Given the description of an element on the screen output the (x, y) to click on. 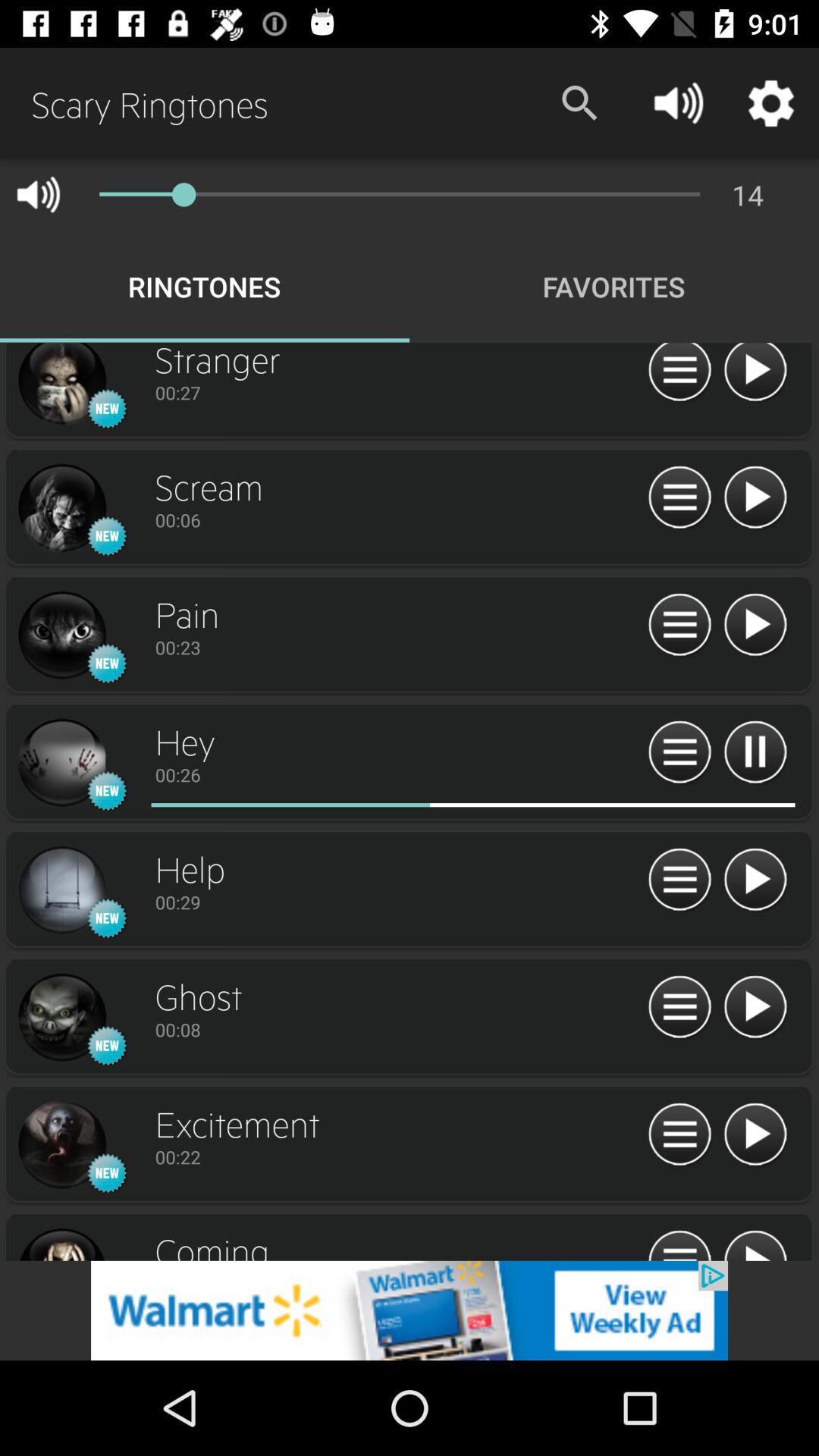
pause button (755, 752)
